Given the description of an element on the screen output the (x, y) to click on. 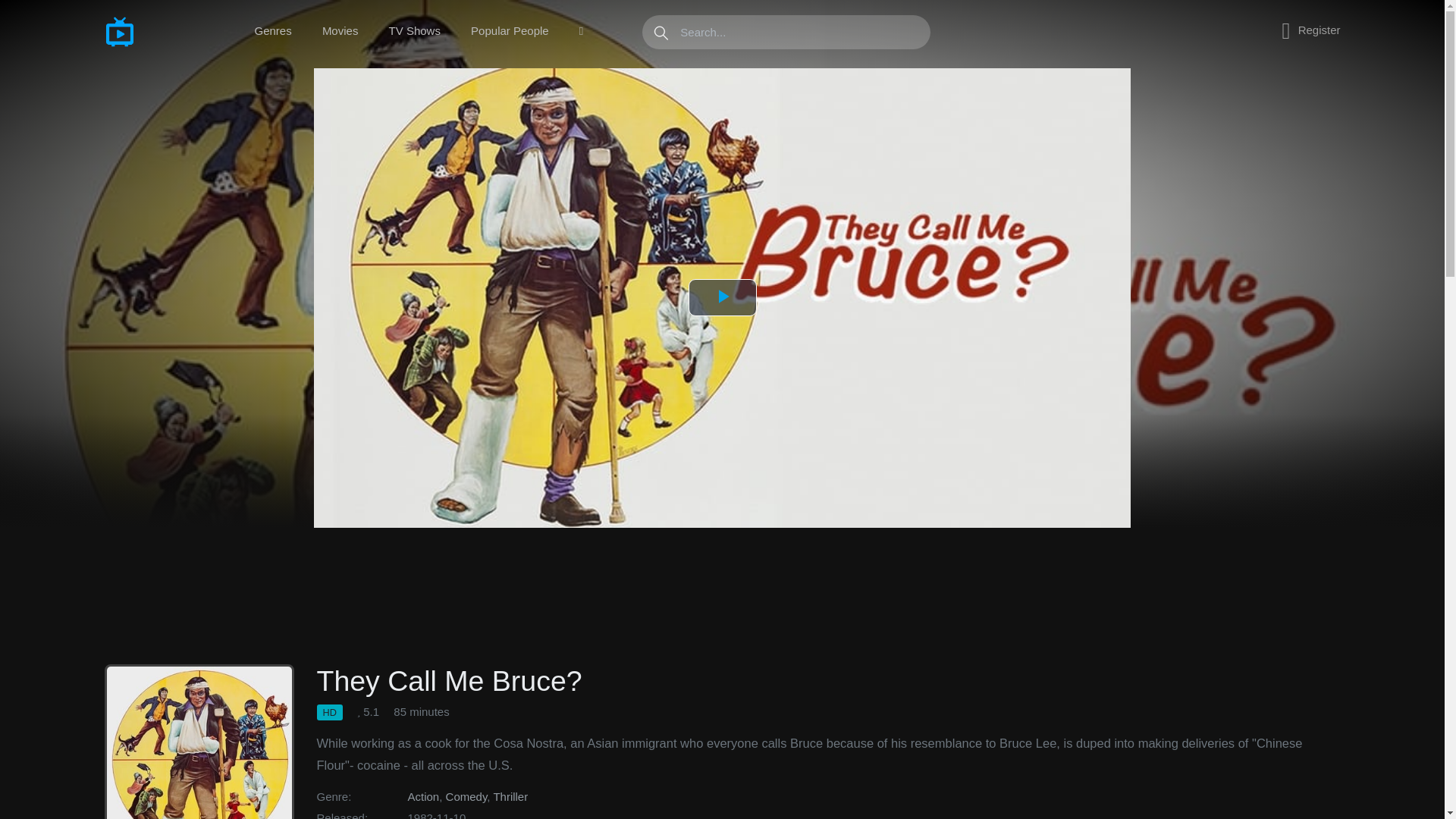
Movies (340, 31)
Watch Movies Online Free (157, 31)
Movies (340, 31)
TV Shows (414, 31)
Popular People (509, 31)
Genres (273, 31)
